Given the description of an element on the screen output the (x, y) to click on. 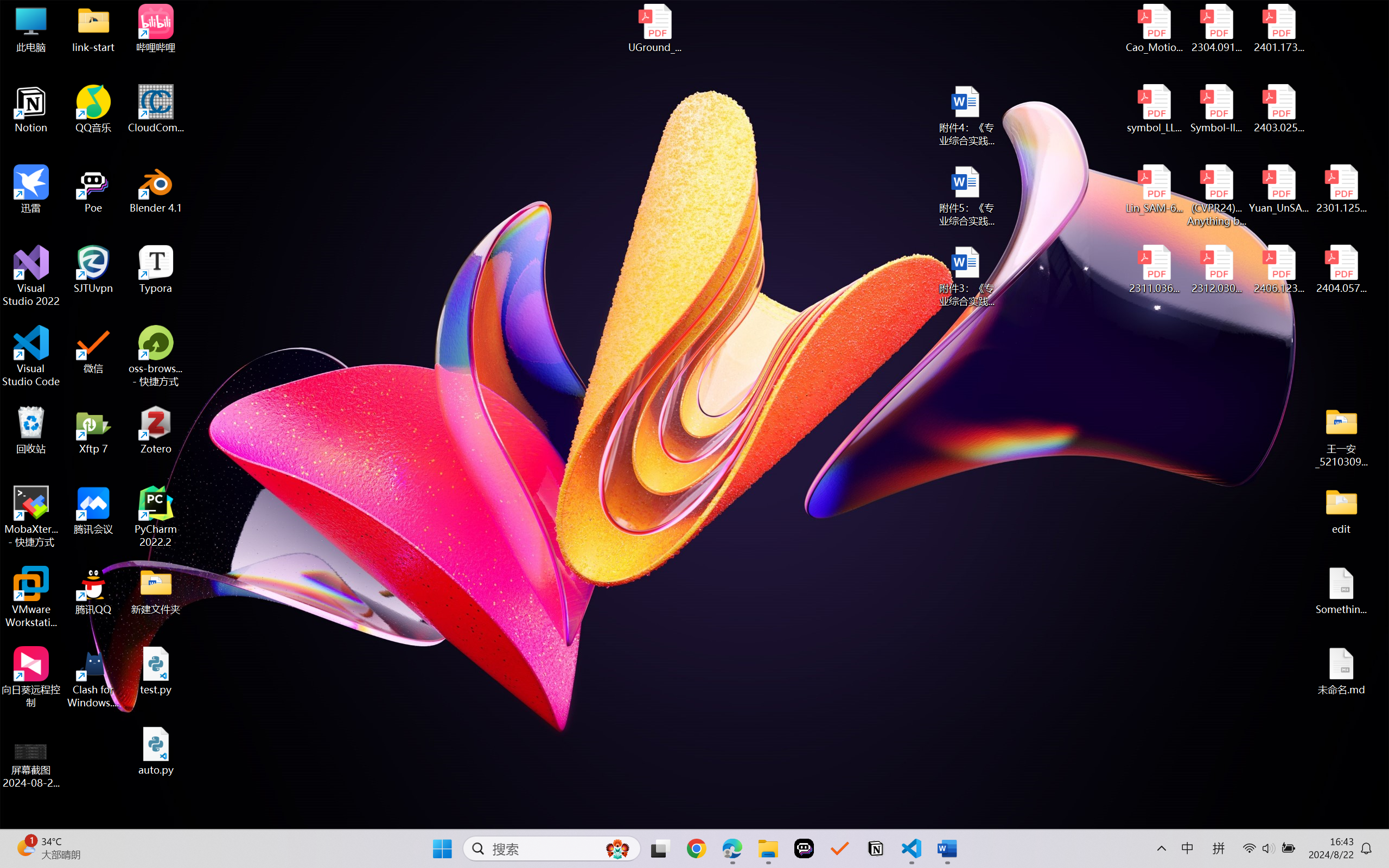
auto.py (156, 751)
2403.02502v1.pdf (1278, 109)
Google Chrome (696, 848)
Symbol-llm-v2.pdf (1216, 109)
edit (1340, 510)
SJTUvpn (93, 269)
CloudCompare (156, 109)
